Given the description of an element on the screen output the (x, y) to click on. 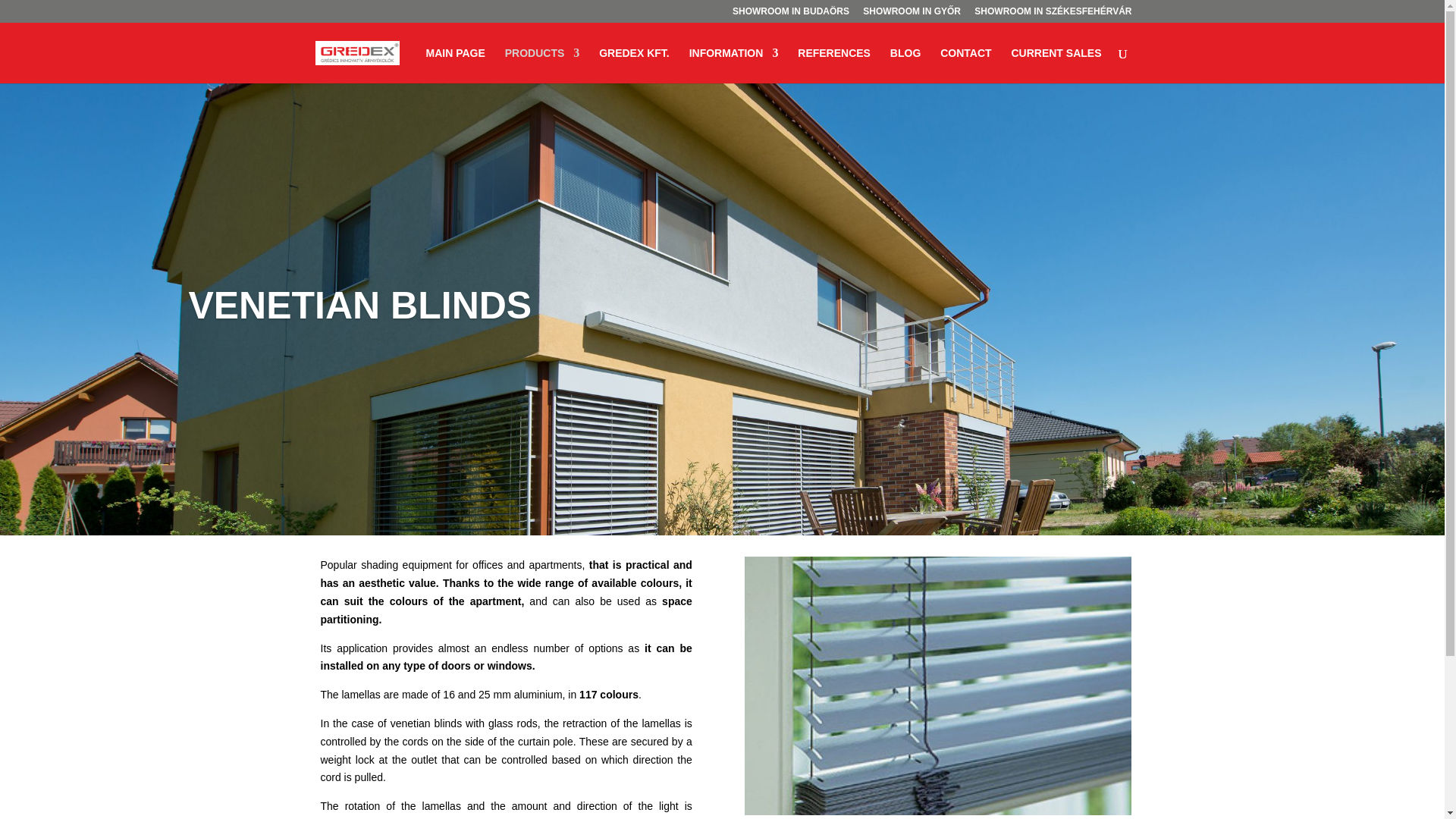
MAIN PAGE (455, 65)
GREDEX KFT. (633, 65)
PRODUCTS (542, 65)
